Given the description of an element on the screen output the (x, y) to click on. 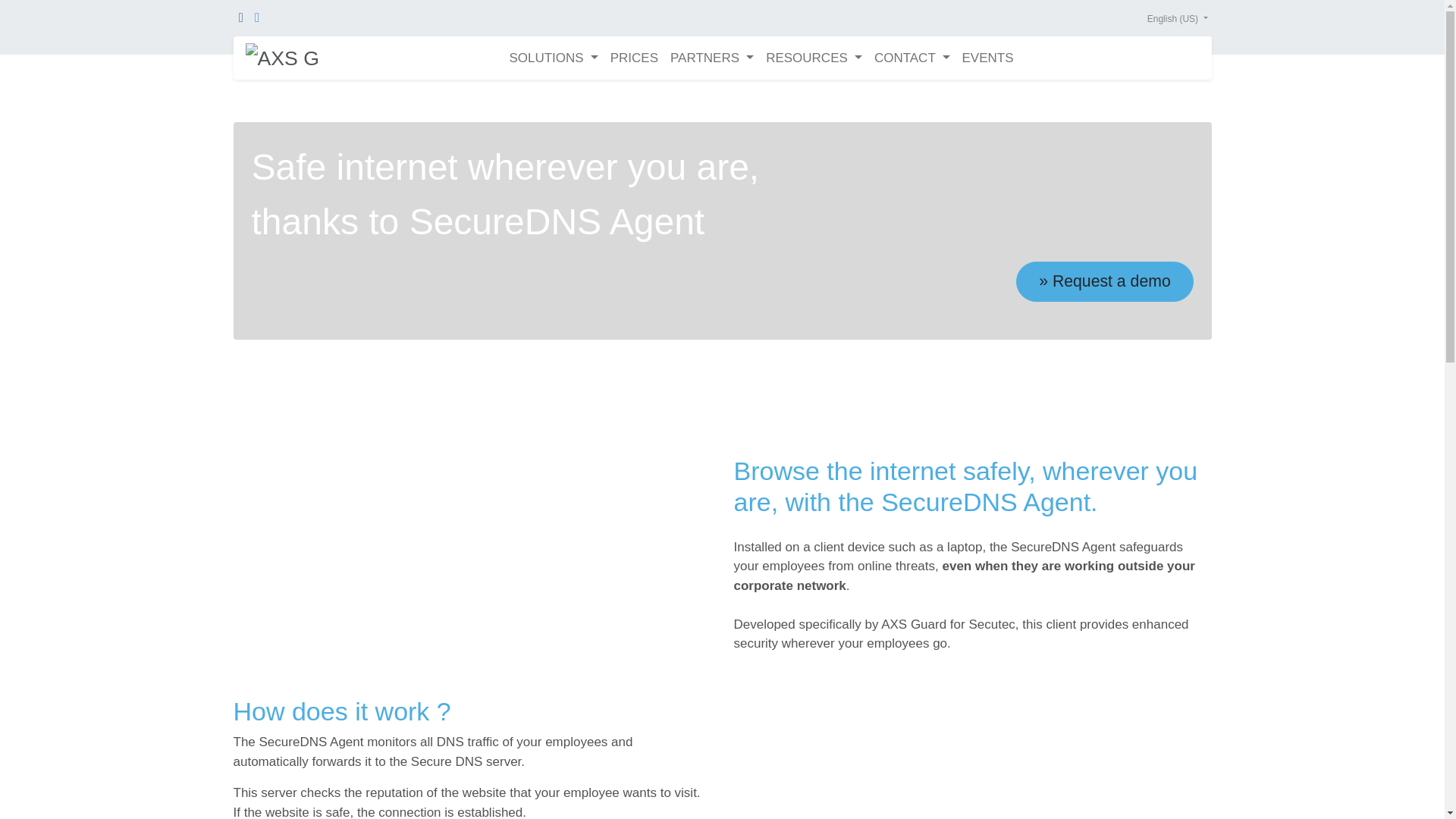
SOLUTIONS (553, 58)
AXS Guard - 2020 (281, 58)
EVENTS (988, 58)
PARTNERS (711, 58)
CONTACT (911, 58)
RESOURCES (813, 58)
PRICES (633, 58)
